Given the description of an element on the screen output the (x, y) to click on. 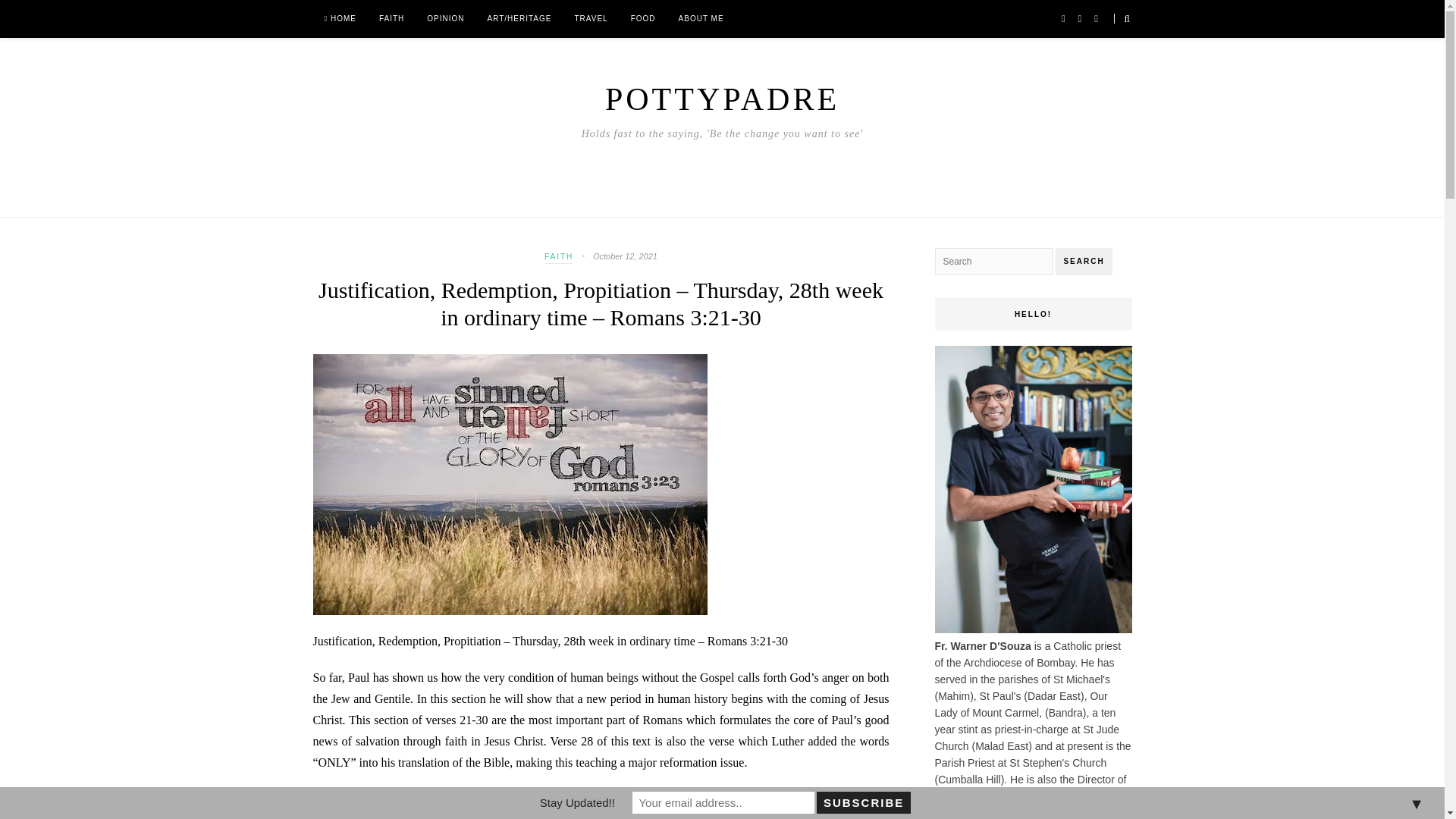
OPINION (445, 18)
ABOUT ME (700, 18)
FAITH (391, 18)
HOME (339, 18)
Subscribe (863, 802)
FAITH (558, 257)
POTTYPADRE (722, 99)
TRAVEL (590, 18)
FOOD (643, 18)
